Given the description of an element on the screen output the (x, y) to click on. 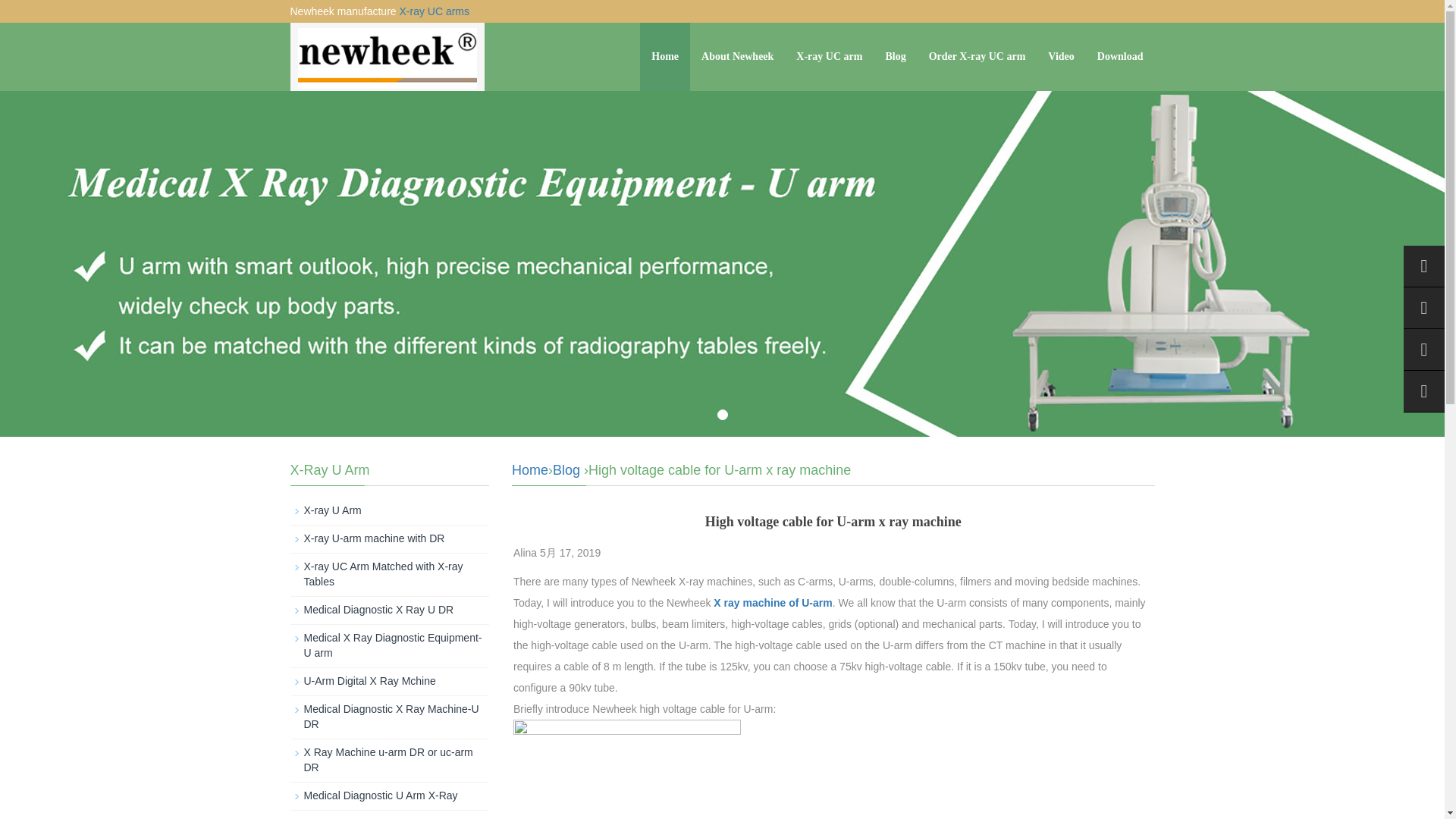
Back to Home page (530, 469)
X-ray UC arms (433, 10)
X ray machine of U-arm (772, 603)
About Newheek (737, 56)
Blog (566, 469)
Home (530, 469)
Download (1120, 56)
X-ray UC arm (828, 56)
Order X-ray UC arm (976, 56)
1 (722, 414)
